Given the description of an element on the screen output the (x, y) to click on. 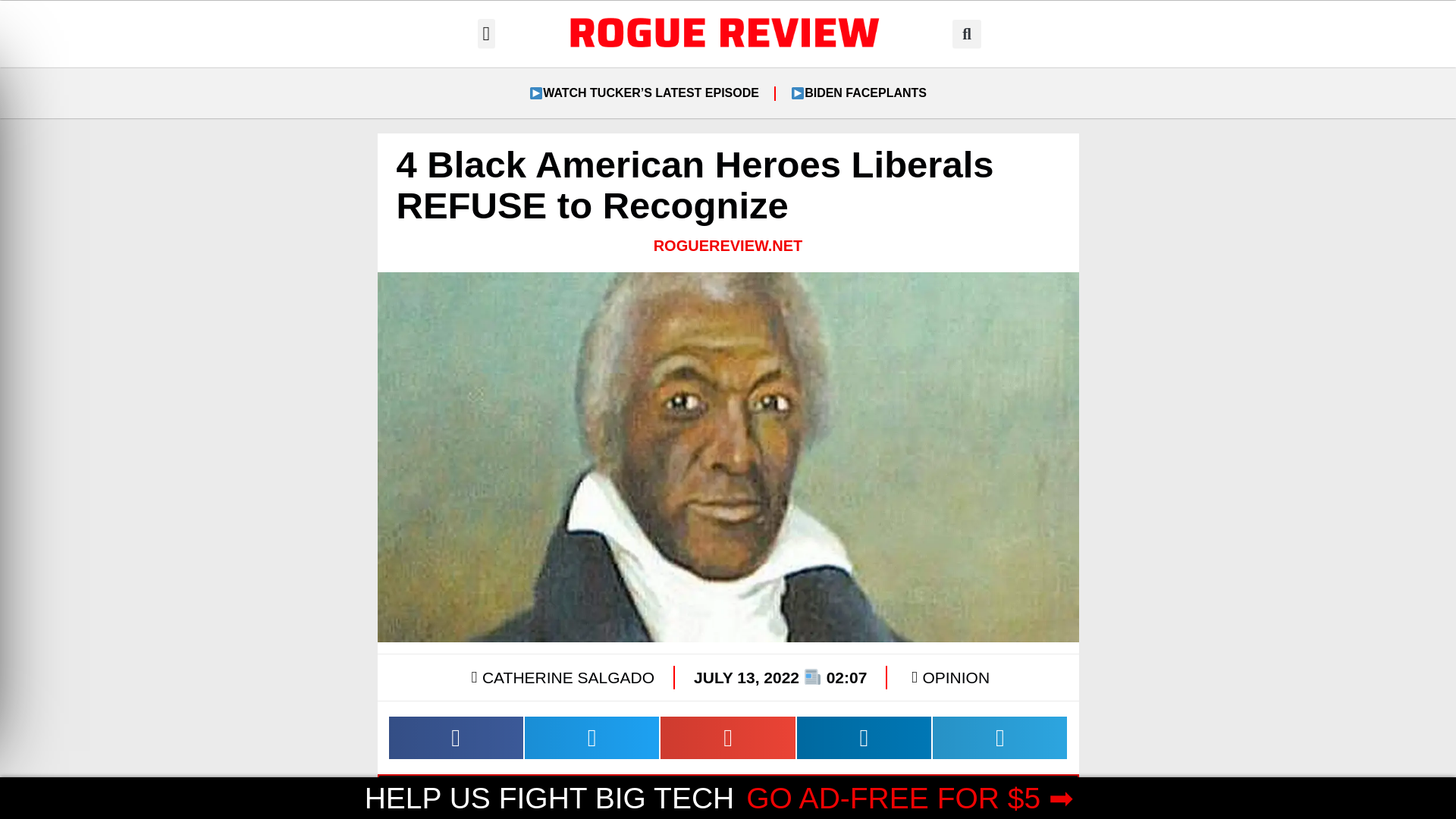
OPINION (955, 677)
CATHERINE SALGADO (559, 677)
BIDEN FACEPLANTS (859, 93)
